Given the description of an element on the screen output the (x, y) to click on. 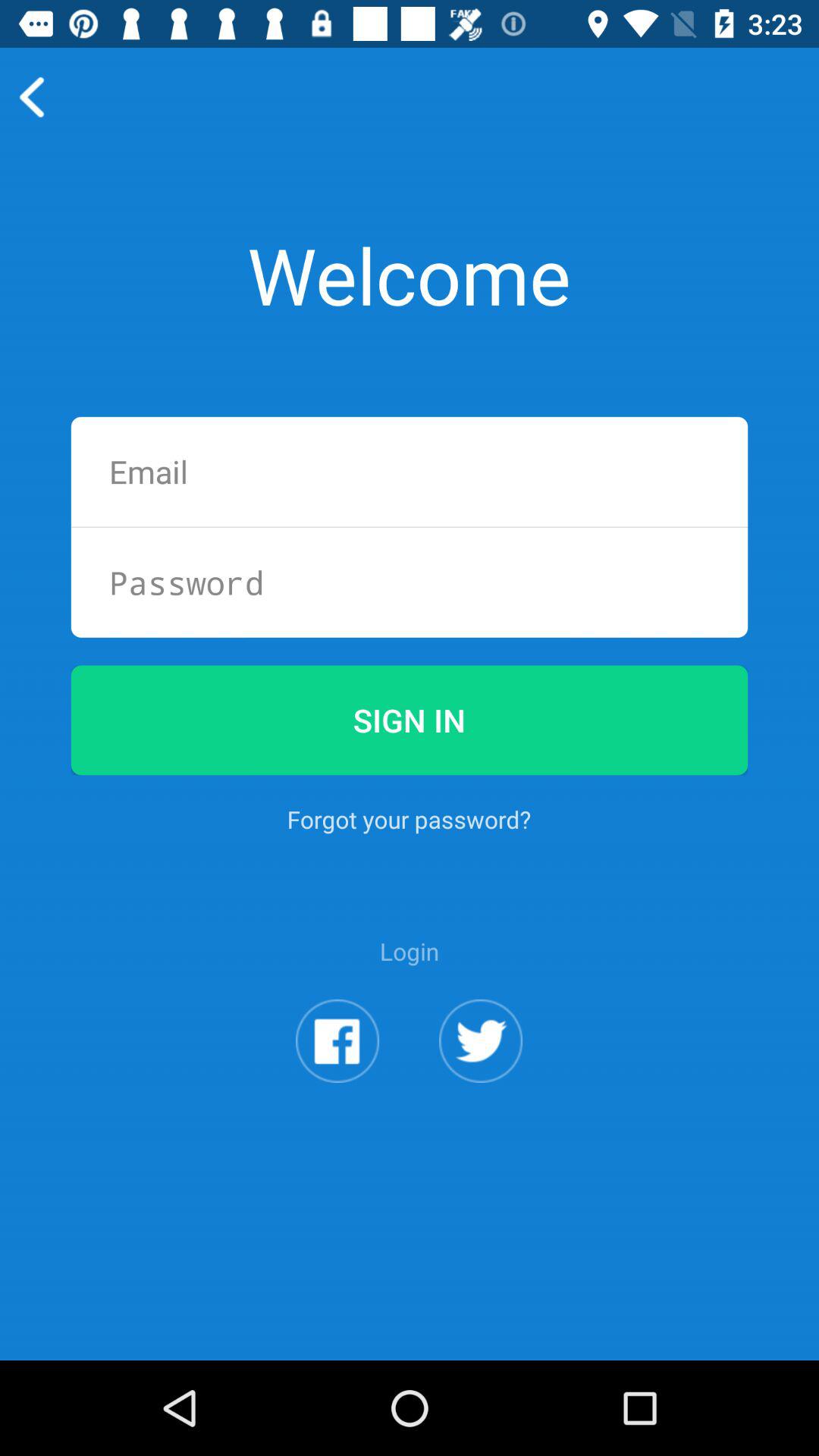
turn on sign in (409, 720)
